Given the description of an element on the screen output the (x, y) to click on. 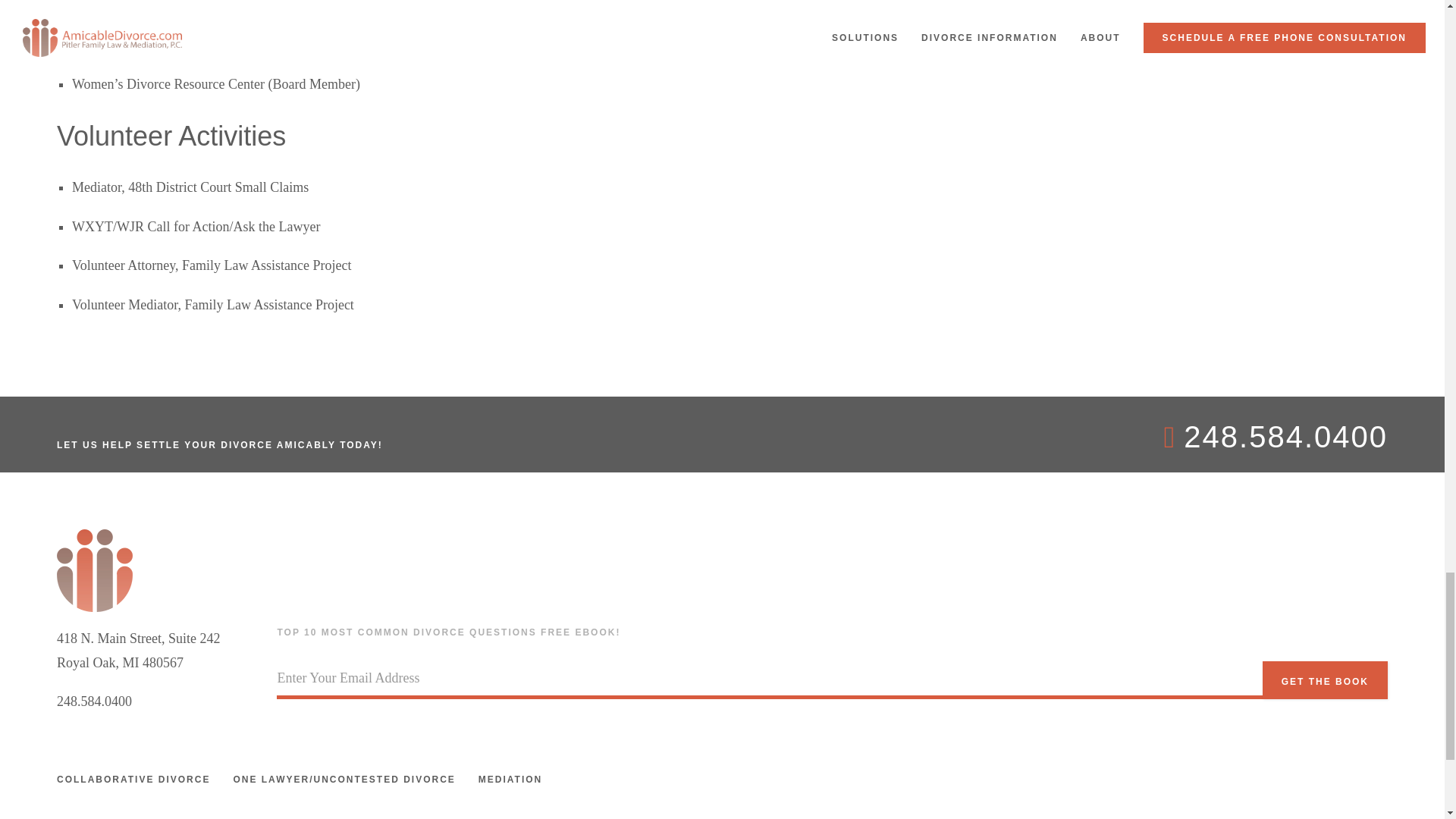
Get the book (1324, 679)
248.584.0400 (94, 701)
Get the book (1324, 679)
